Given the description of an element on the screen output the (x, y) to click on. 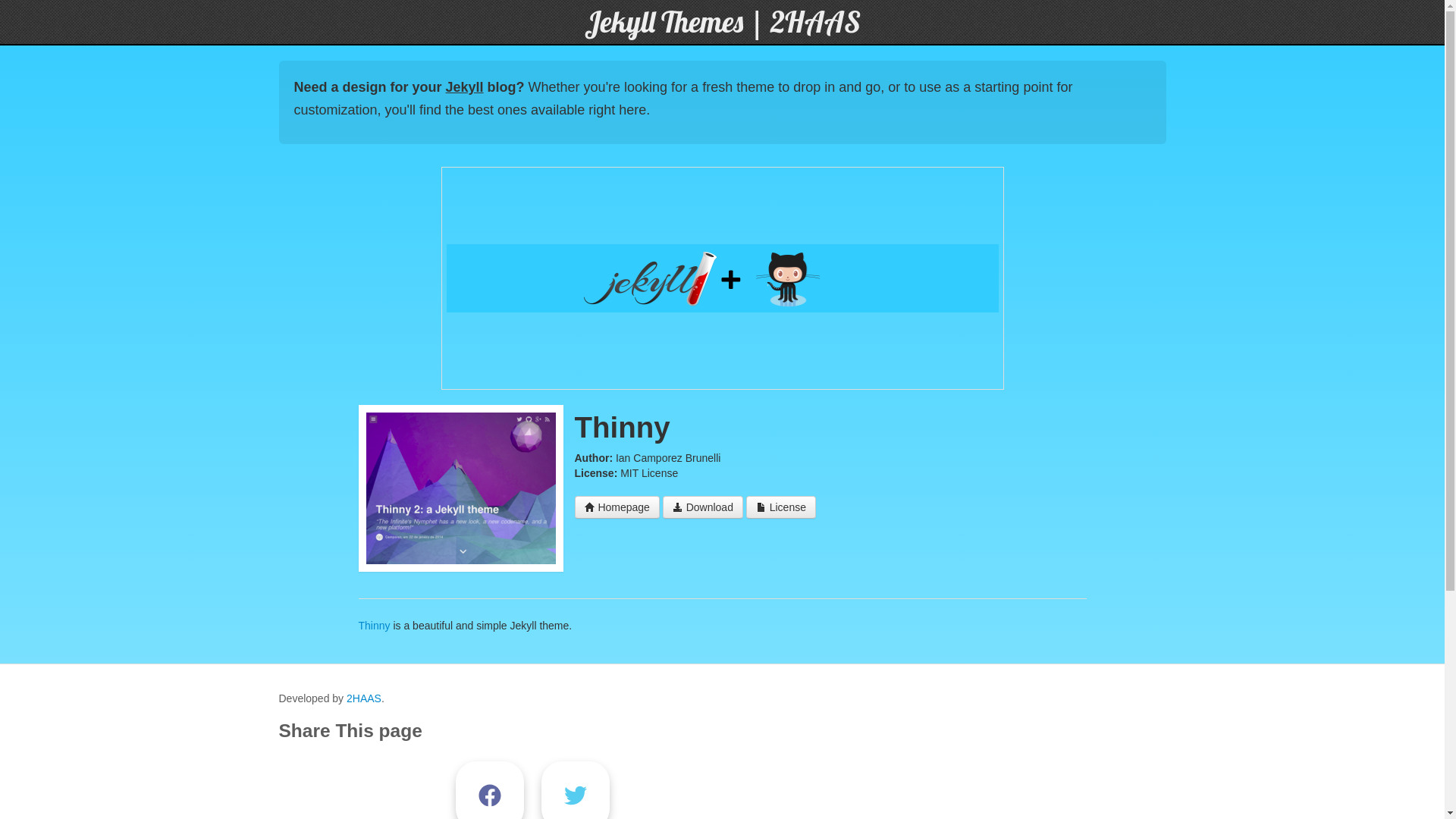
2HAAS Element type: text (363, 698)
Thinny Element type: text (373, 625)
License Element type: text (780, 506)
Homepage Element type: text (616, 506)
Jekyll Element type: text (464, 86)
Jekyll Themes | 2HAAS Element type: text (721, 21)
Download Element type: text (702, 506)
Advertisement Element type: hover (721, 278)
